Given the description of an element on the screen output the (x, y) to click on. 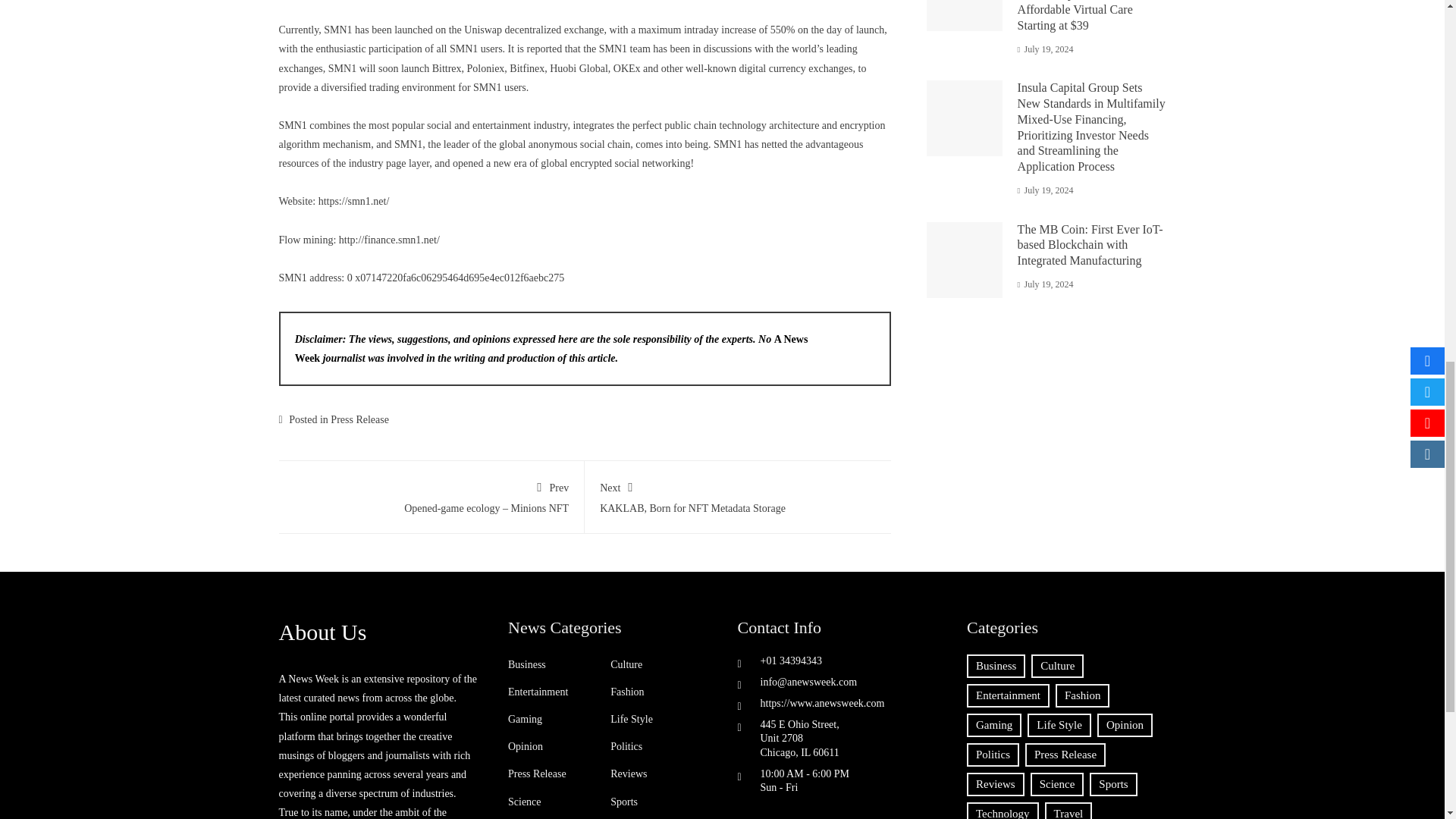
Reviews (628, 774)
Politics (626, 746)
Sports (737, 494)
Business (623, 801)
Gaming (527, 664)
Entertainment (524, 719)
Opinion (537, 692)
Culture (525, 746)
Press Release (626, 664)
Press Release (537, 774)
Science (359, 419)
Life Style (524, 801)
